Given the description of an element on the screen output the (x, y) to click on. 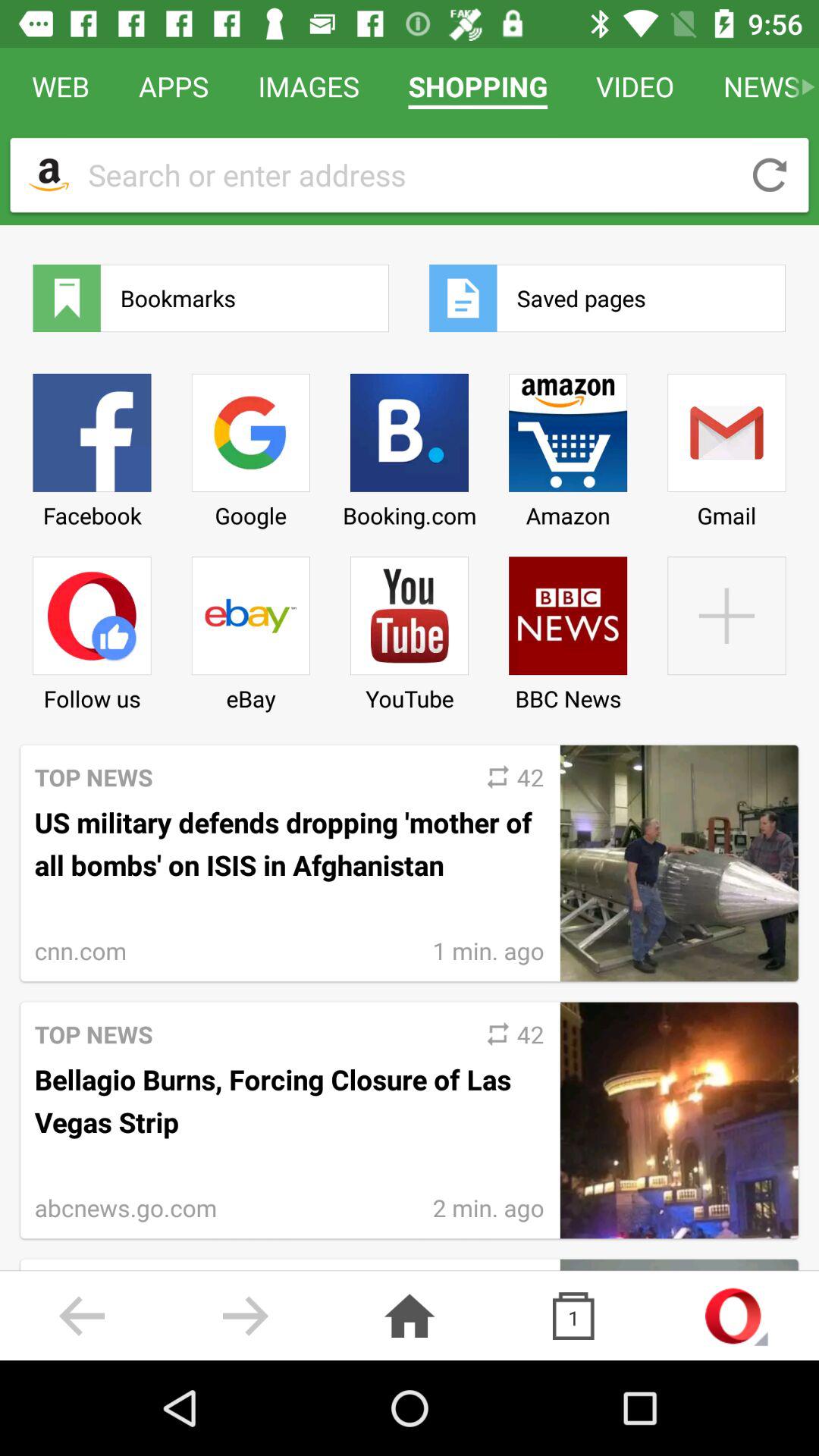
jump until the google (250, 444)
